Given the description of an element on the screen output the (x, y) to click on. 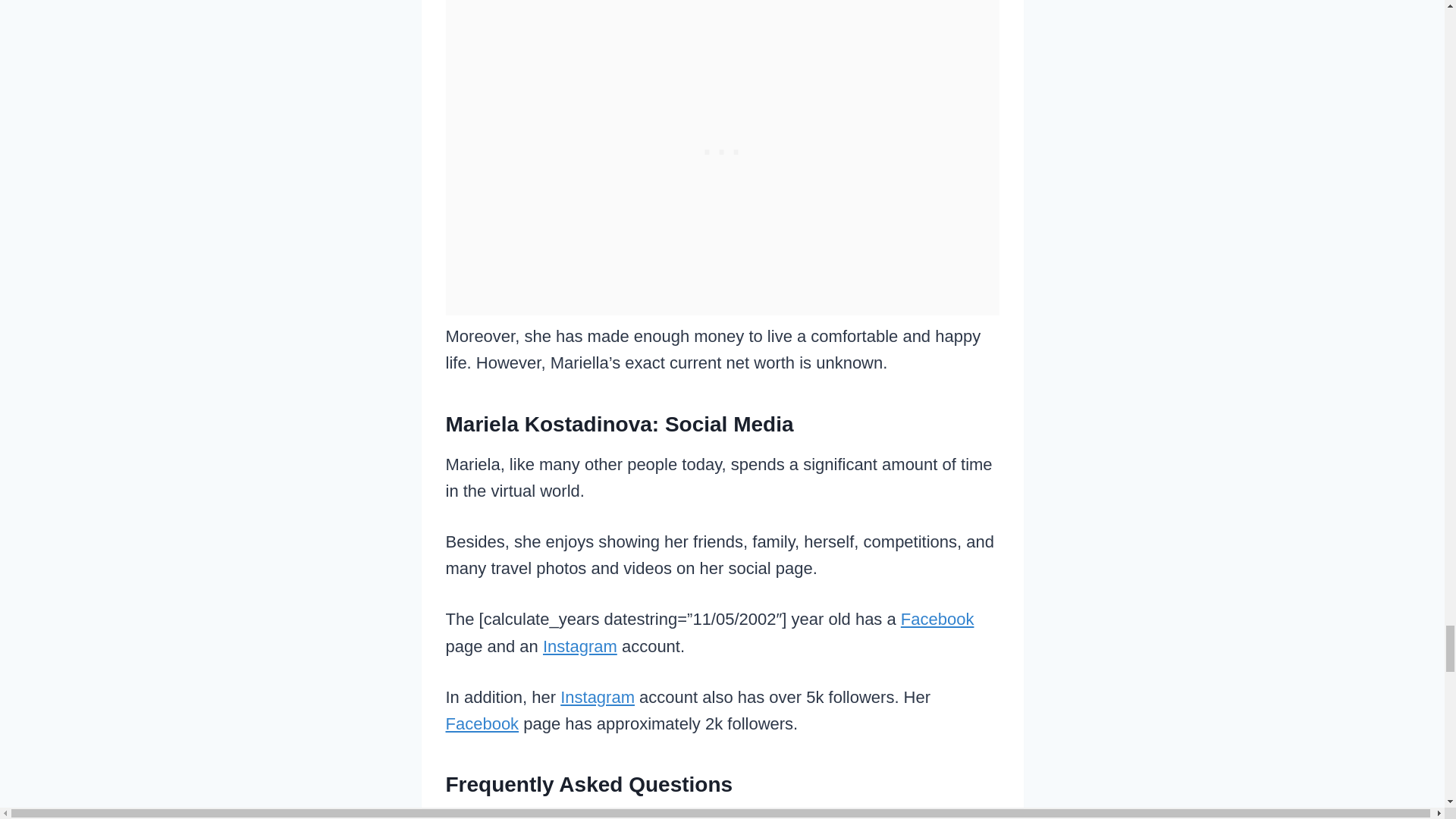
Facebook (937, 618)
Instagram (597, 696)
Facebook (482, 723)
Instagram (580, 646)
